Given the description of an element on the screen output the (x, y) to click on. 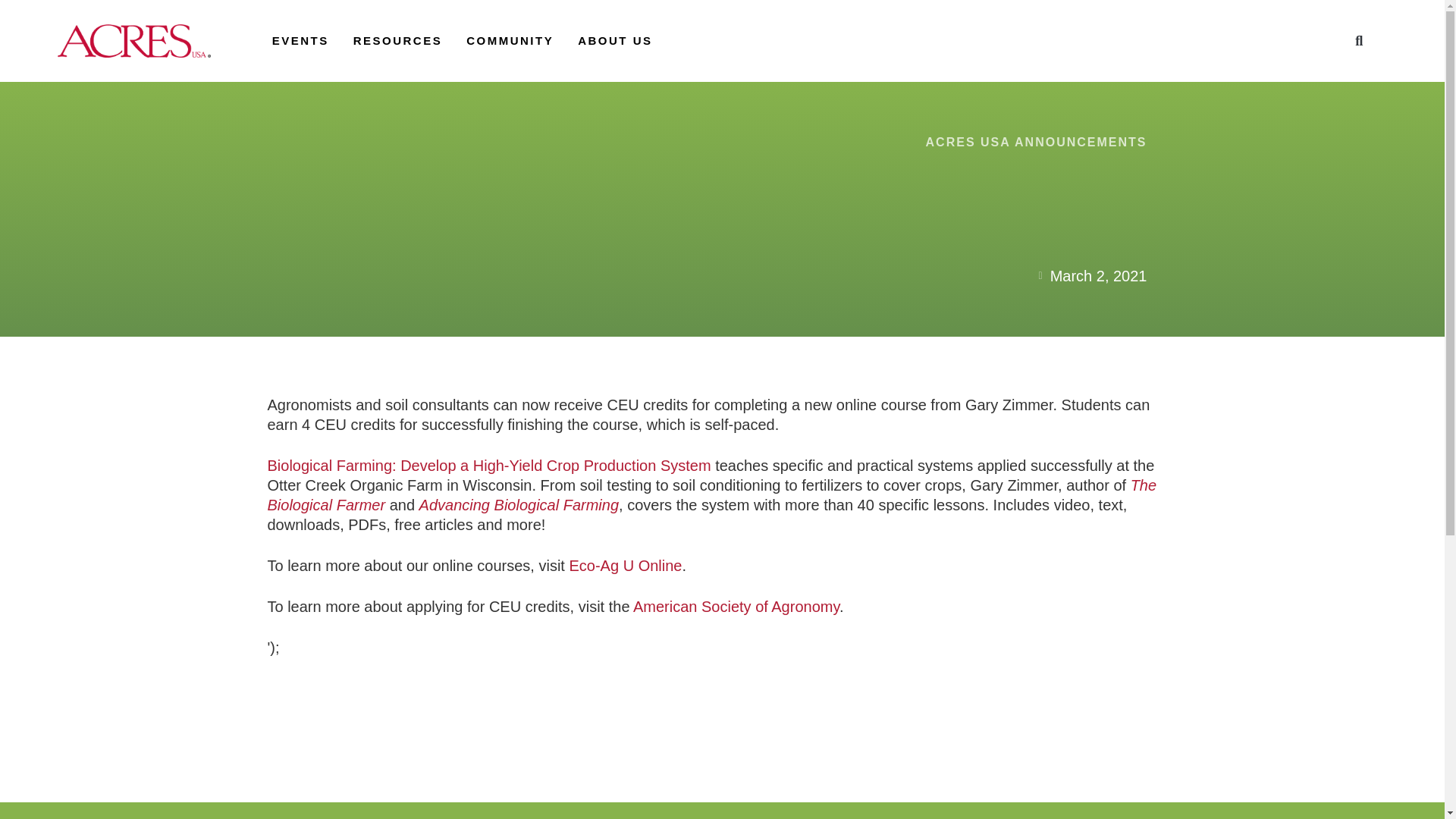
RESOURCES (397, 40)
ABOUT US (615, 40)
EVENTS (300, 40)
COMMUNITY (509, 40)
